Given the description of an element on the screen output the (x, y) to click on. 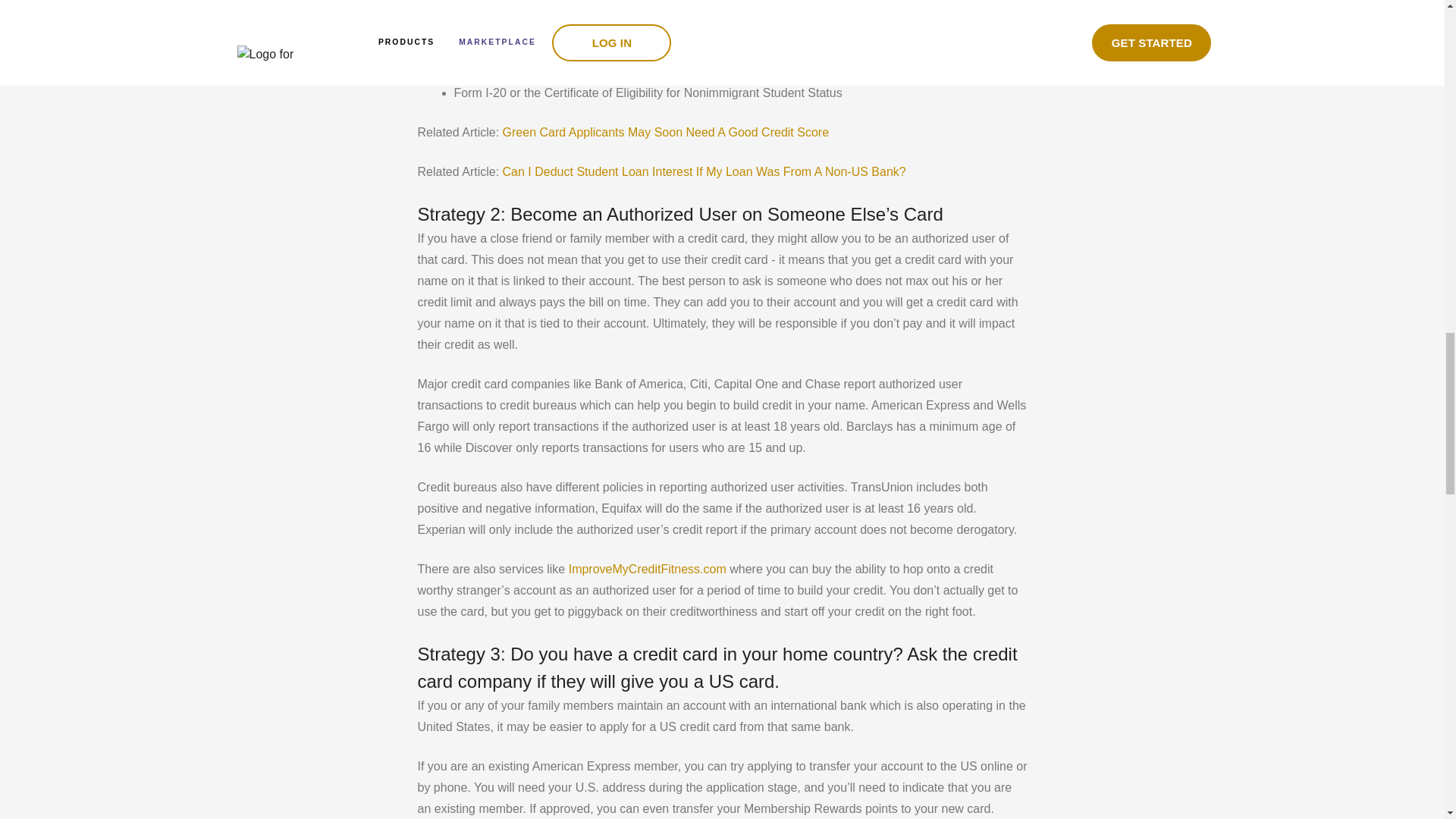
Green Card Applicants May Soon Need A Good Credit Score (665, 132)
 ImproveMyCreditFitness.com (645, 568)
